Given the description of an element on the screen output the (x, y) to click on. 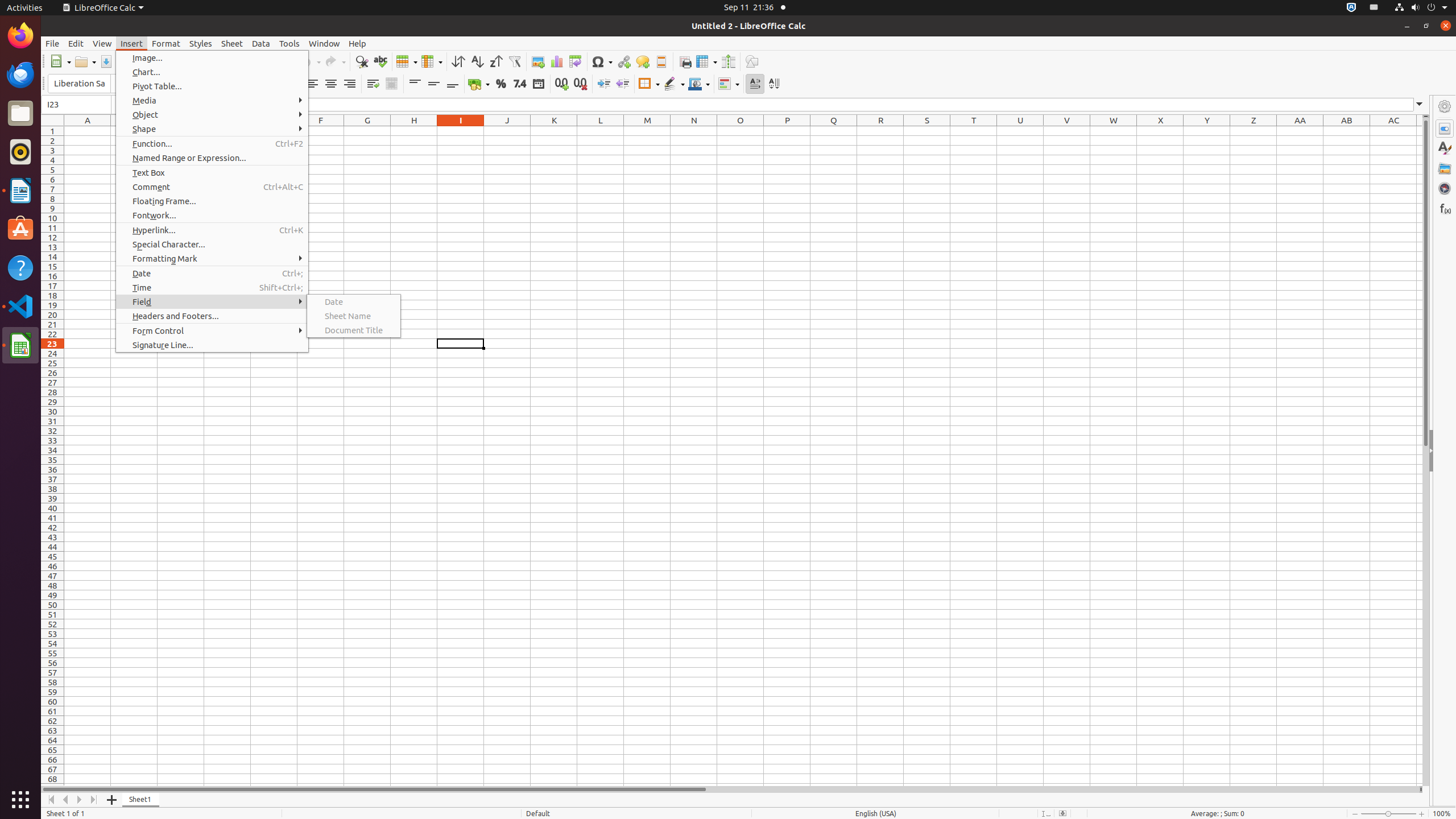
Move Left Element type: push-button (65, 799)
Center Vertically Element type: push-button (433, 83)
Signature Line... Element type: menu-item (212, 344)
Align Center Element type: push-button (330, 83)
